Given the description of an element on the screen output the (x, y) to click on. 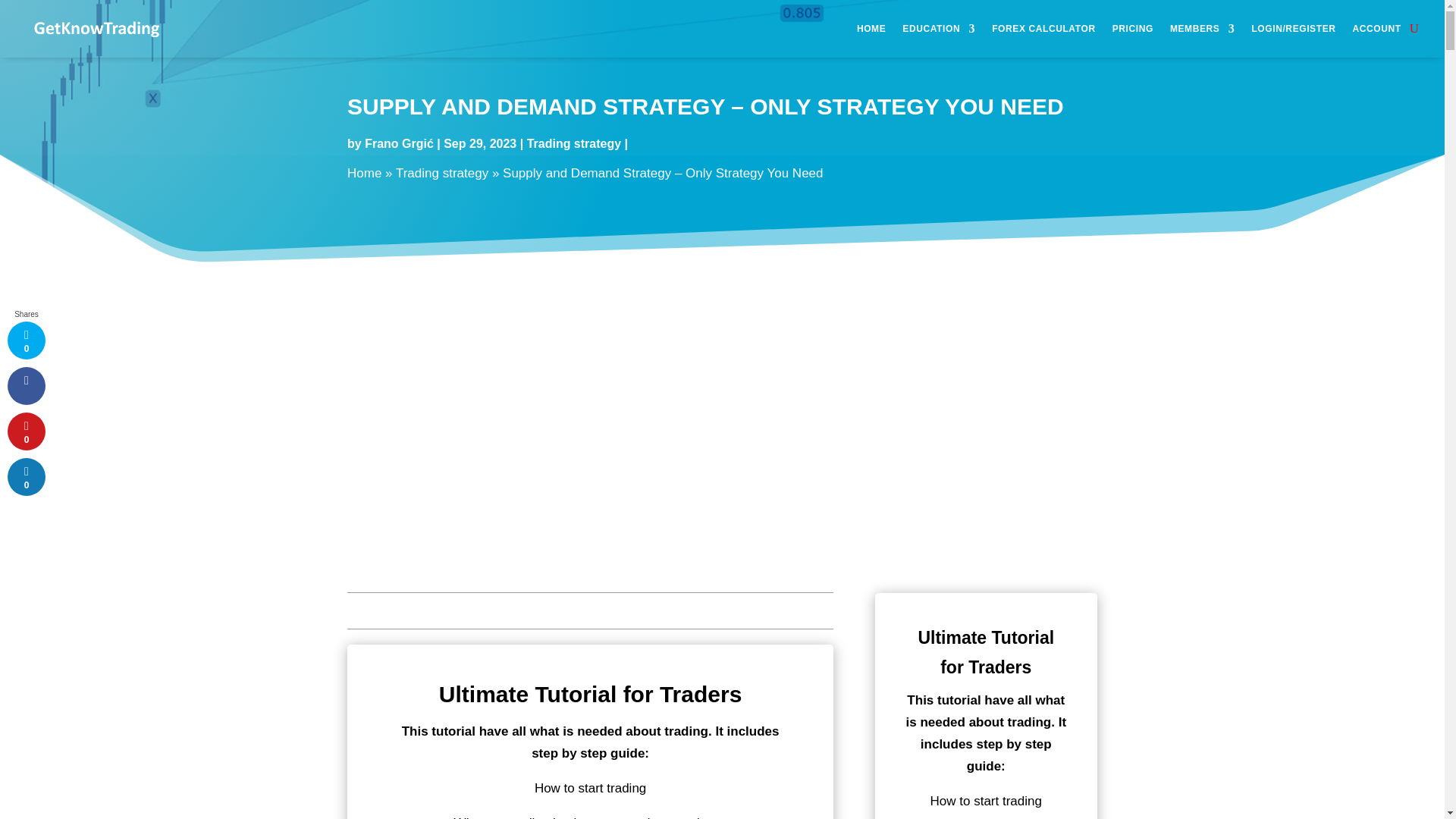
MEMBERS (1202, 28)
EDUCATION (938, 28)
FOREX CALCULATOR (1043, 28)
